Given the description of an element on the screen output the (x, y) to click on. 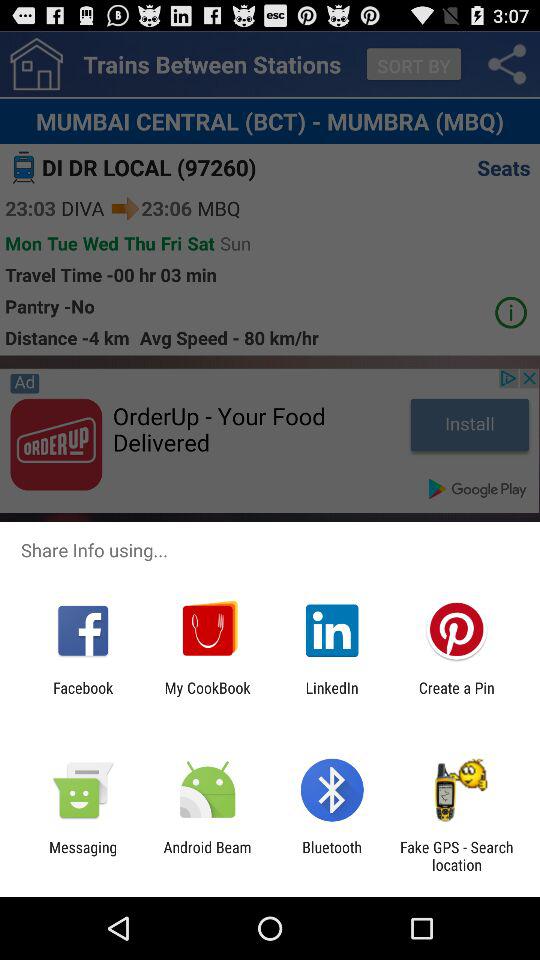
choose icon to the left of bluetooth icon (207, 856)
